Given the description of an element on the screen output the (x, y) to click on. 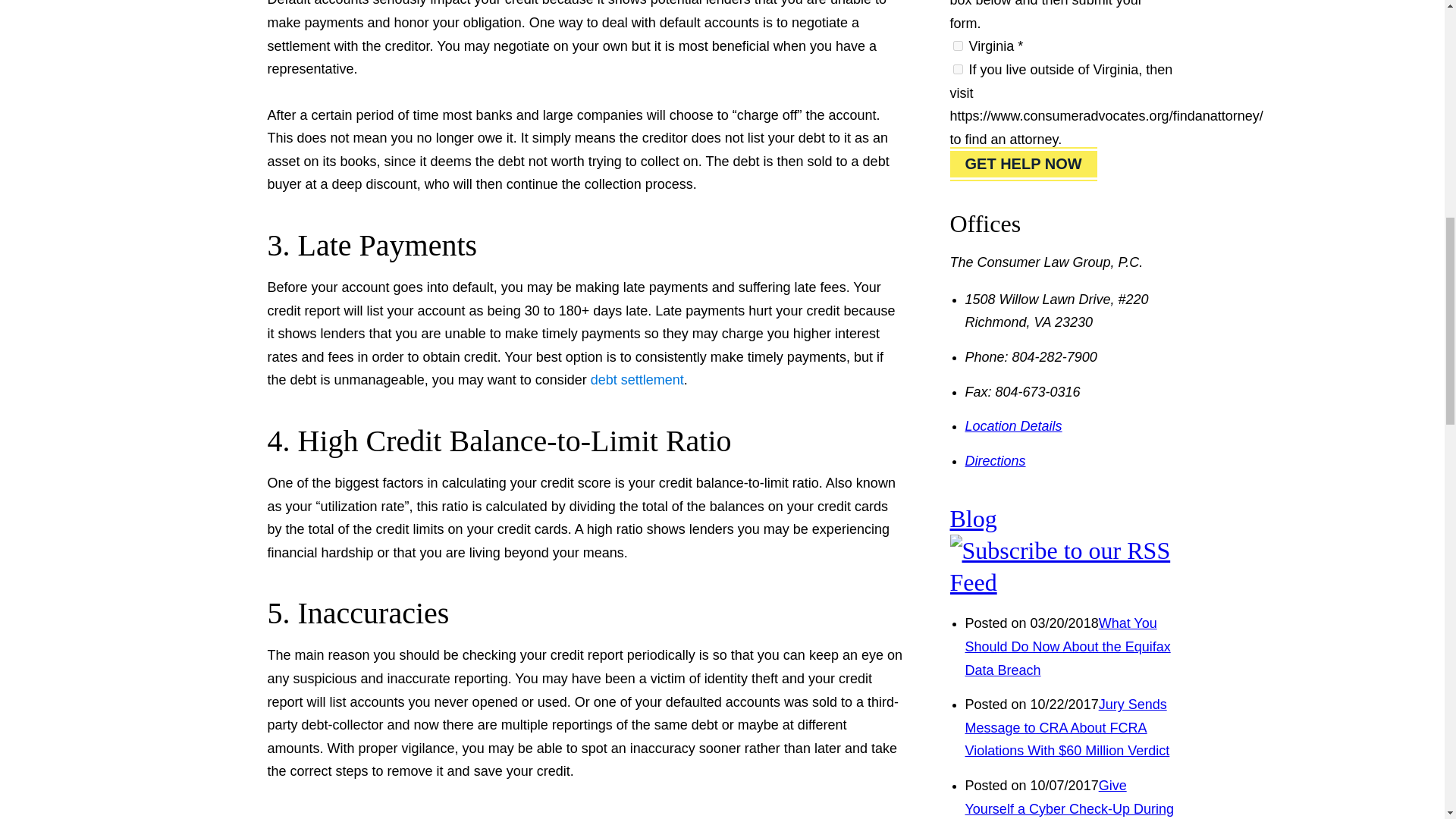
Directions (994, 460)
GET HELP NOW (1022, 163)
Location Details (1012, 426)
Subscribe to our RSS Feed (1062, 582)
debt settlement (637, 379)
What You Should Do Now About the Equifax Data Breach (1066, 646)
Virginia (957, 45)
Blog (972, 518)
